Given the description of an element on the screen output the (x, y) to click on. 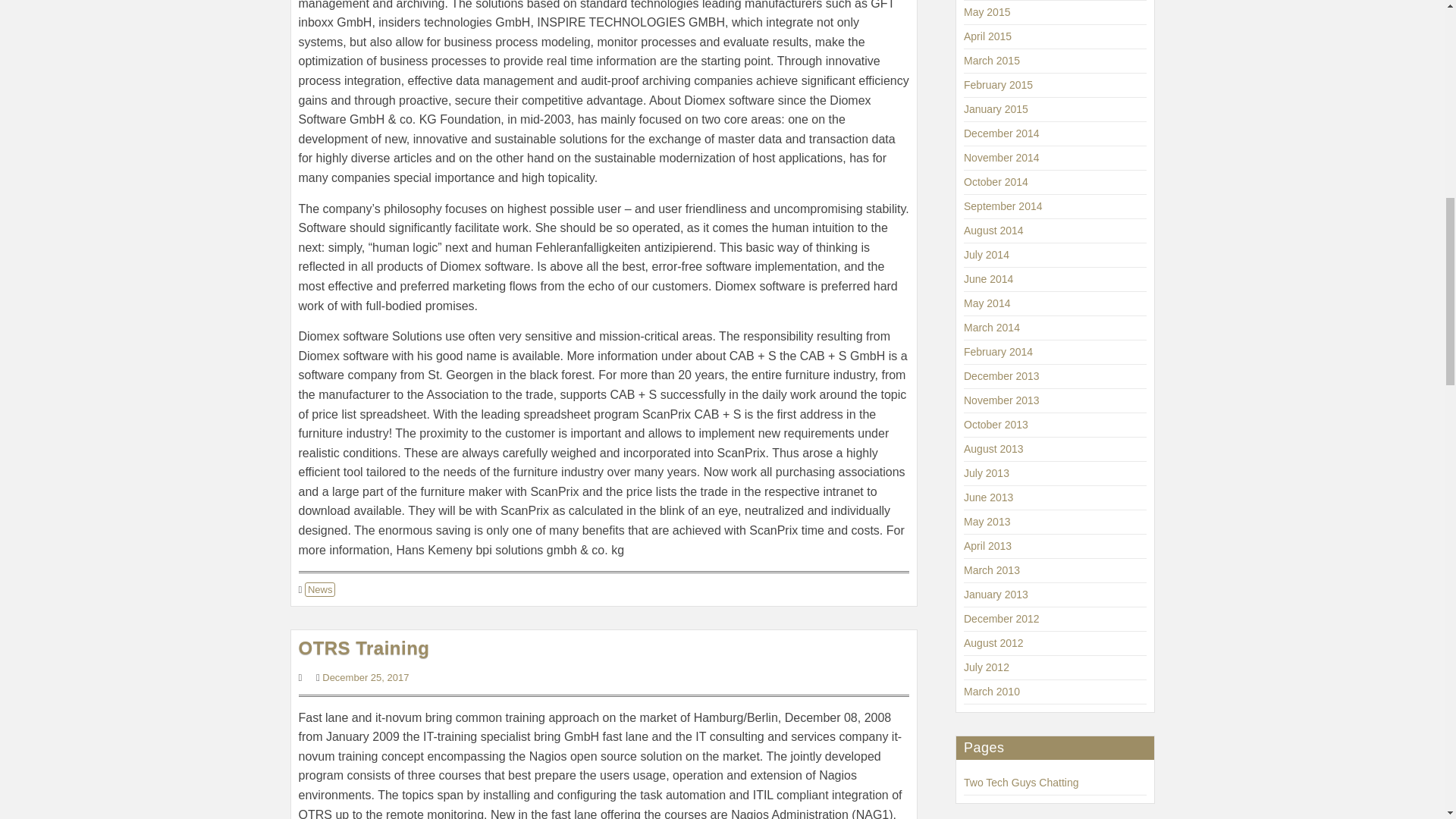
OTRS Training (363, 648)
News (320, 589)
December 25, 2017 (365, 677)
